Given the description of an element on the screen output the (x, y) to click on. 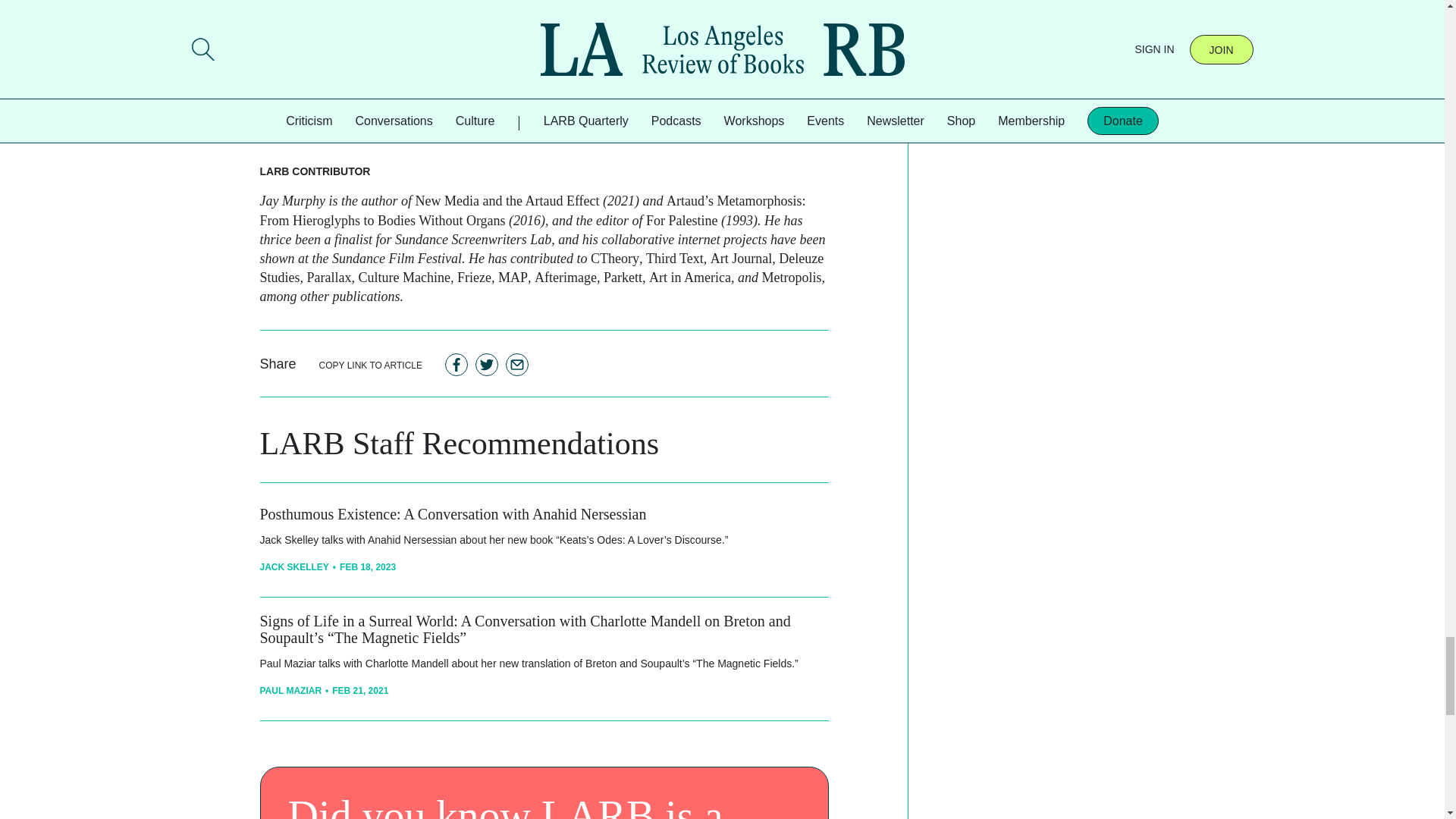
COPY LINK TO ARTICLE (370, 364)
Share on twitter (486, 364)
Share on facebook (456, 364)
